Given the description of an element on the screen output the (x, y) to click on. 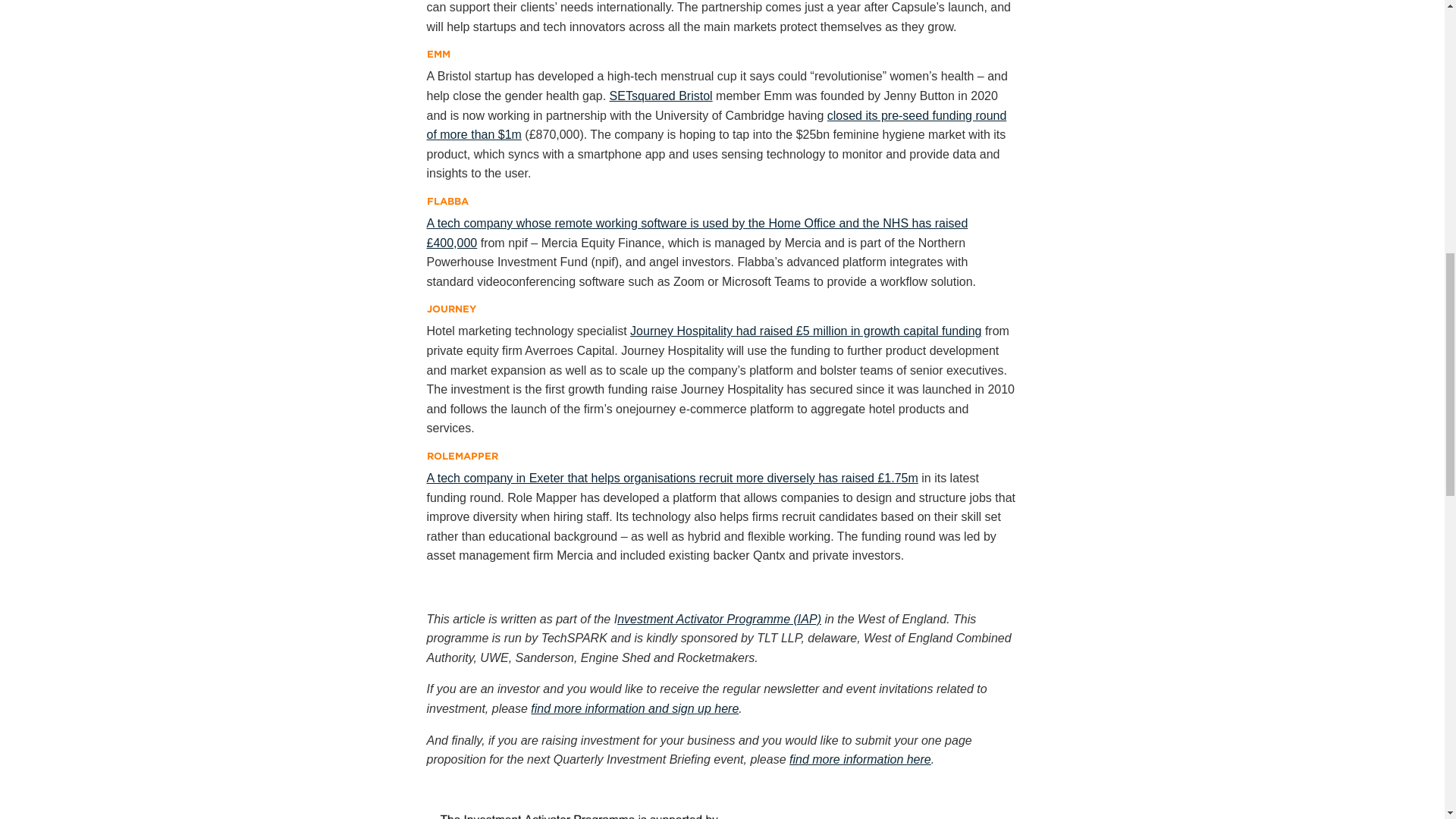
find more information here (860, 758)
SETsquared Bristol (661, 95)
find more information and sign up here (634, 707)
